Given the description of an element on the screen output the (x, y) to click on. 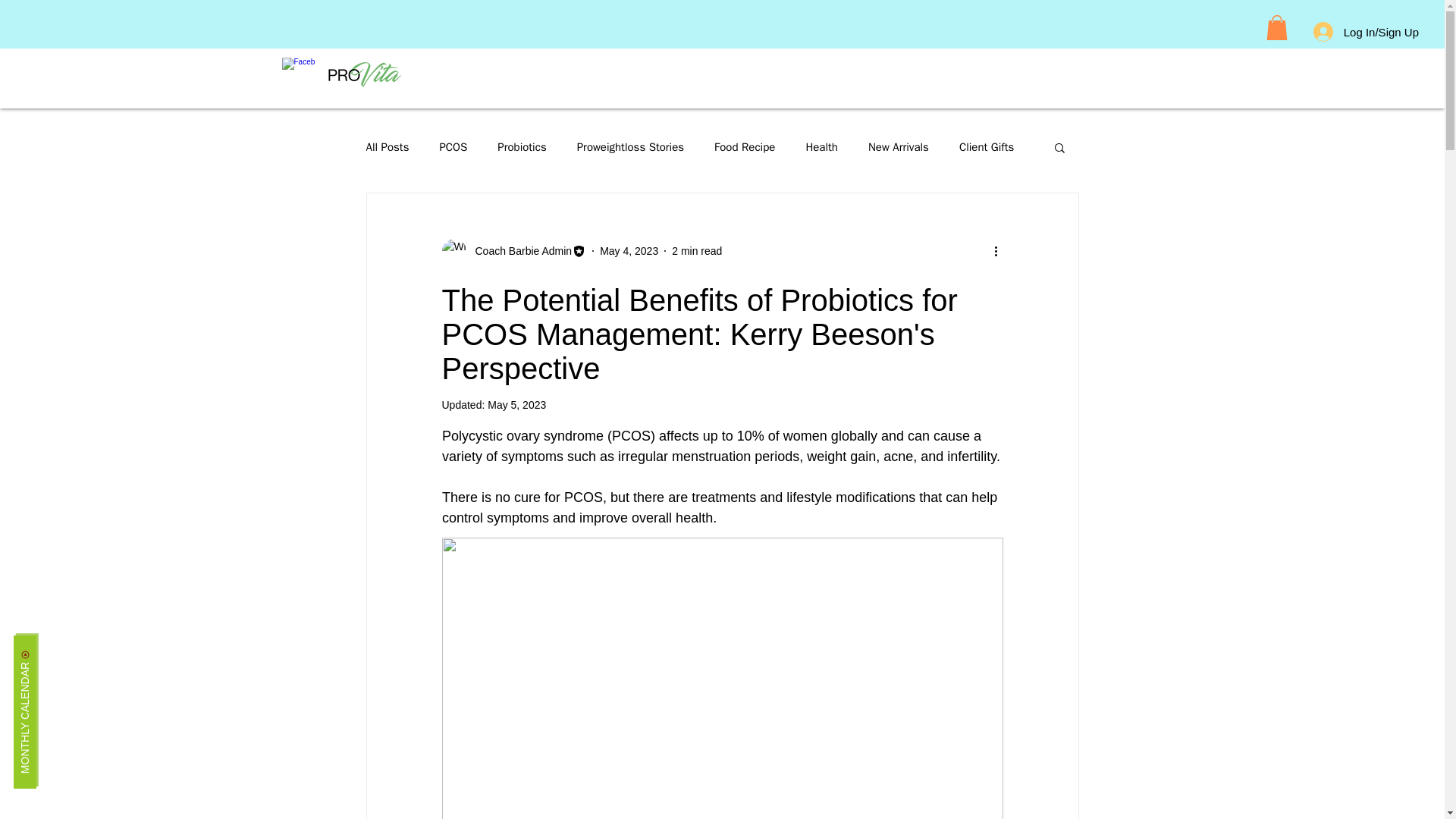
PCOS (453, 146)
Coach Barbie Admin (513, 250)
All Posts (387, 146)
New Arrivals (897, 146)
2 min read (696, 250)
Client Gifts (986, 146)
Coach Barbie Admin (518, 250)
May 4, 2023 (628, 250)
Probiotics (521, 146)
Proweightloss Stories (630, 146)
Health (821, 146)
May 5, 2023 (516, 404)
Food Recipe (744, 146)
